Given the description of an element on the screen output the (x, y) to click on. 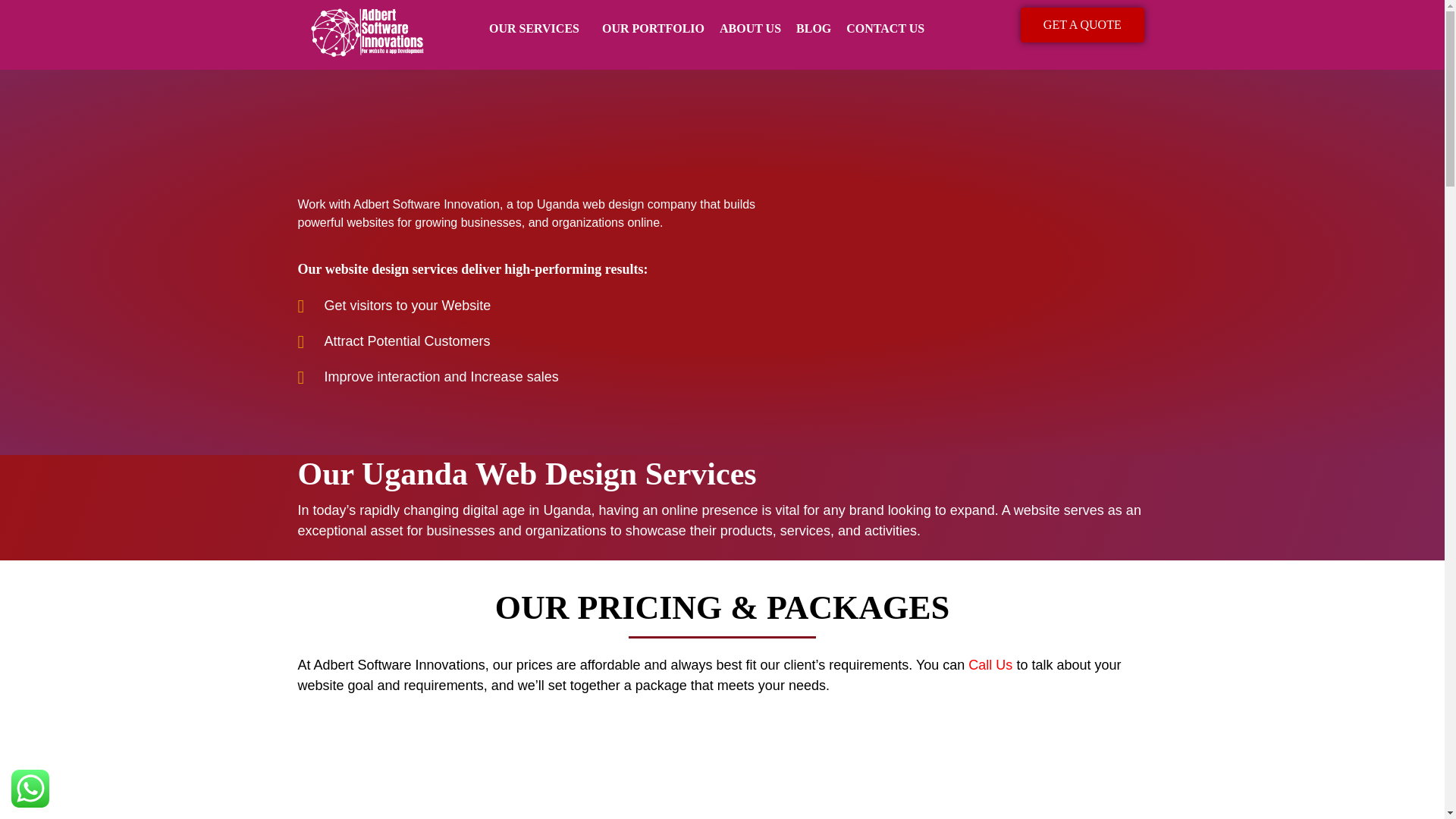
OUR PORTFOLIO (652, 28)
OUR SERVICES (537, 28)
ABOUT US (750, 28)
GET A QUOTE (1082, 24)
CONTACT US (885, 28)
BLOG (812, 28)
